Given the description of an element on the screen output the (x, y) to click on. 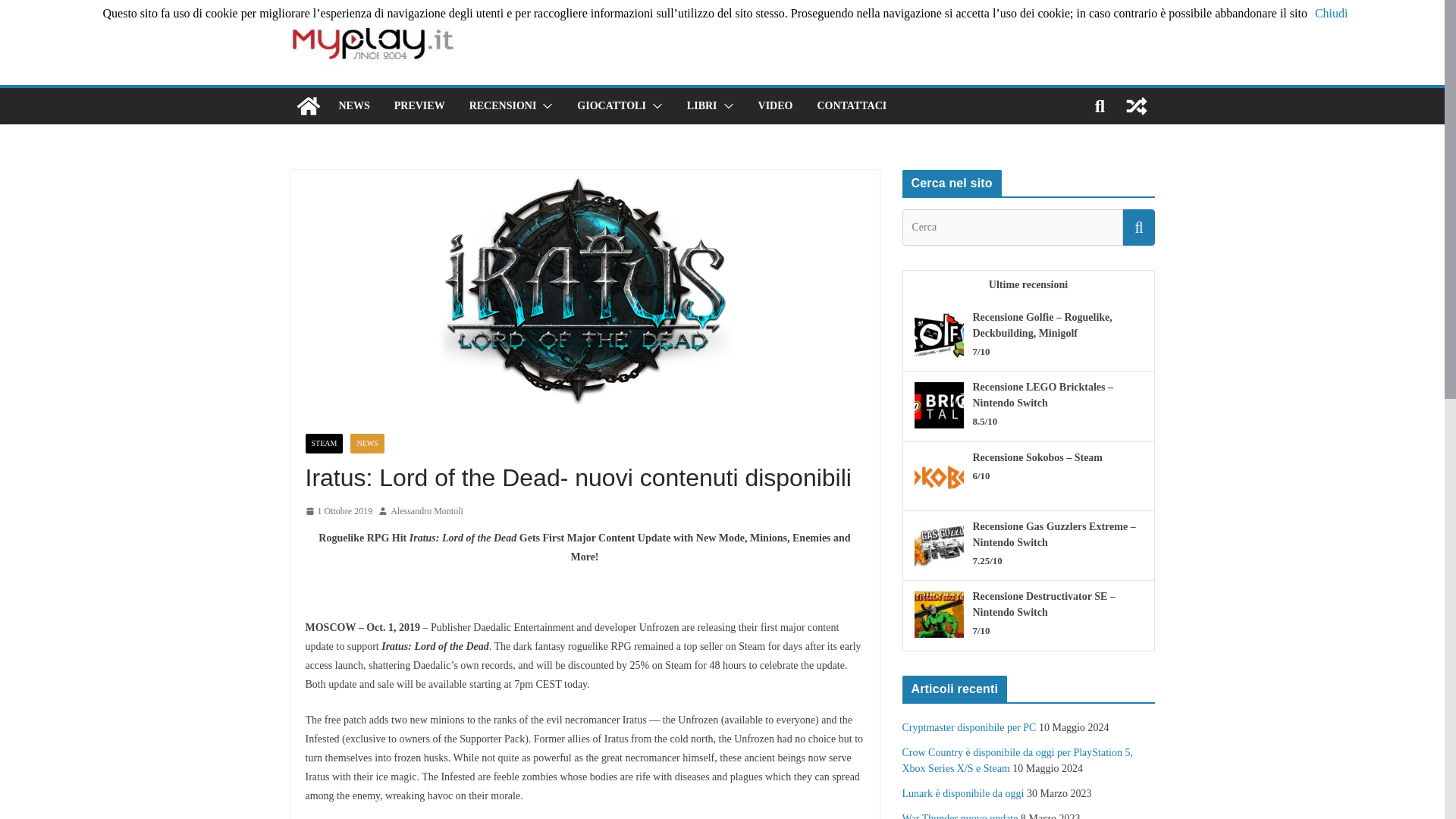
LIBRI (702, 106)
PREVIEW (419, 106)
NEWS (353, 106)
VIDEO (775, 106)
NEWS (367, 443)
Alessandro Montoli (426, 511)
Leggi un articolo casuale (1136, 105)
Ultime recensioni (1027, 286)
17:38 (338, 511)
GIOCATTOLI (611, 106)
